Given the description of an element on the screen output the (x, y) to click on. 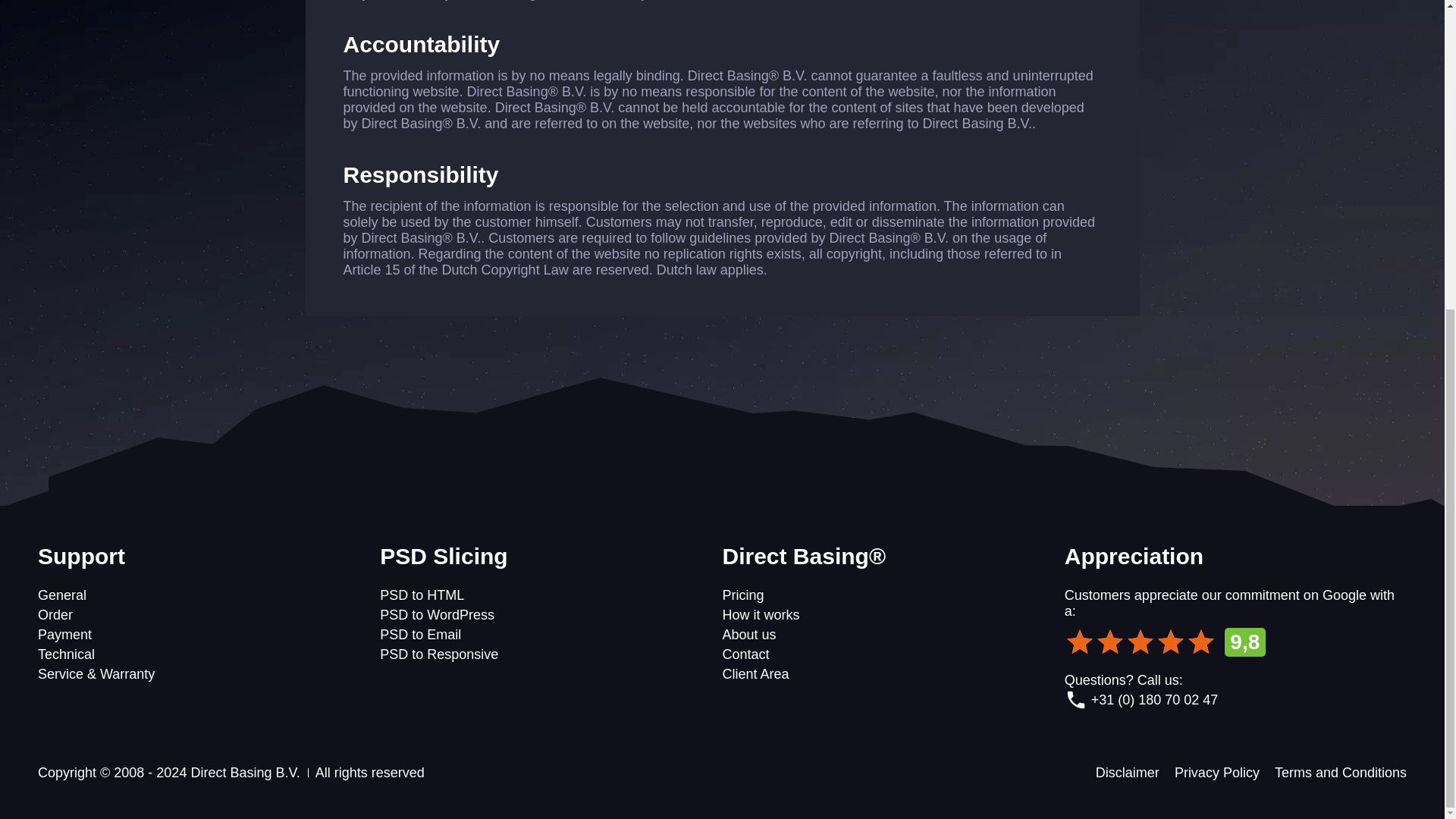
PSD to Email (420, 634)
PSD to WordPress (437, 614)
Technical (65, 654)
Support (208, 555)
About us (749, 634)
Privacy Policy (1216, 772)
General (61, 595)
Terms and Conditions (1340, 772)
PSD Slicing (551, 555)
Contact (745, 654)
PSD to Responsive (438, 654)
How it works (760, 614)
PSD to HTML (422, 595)
Disclaimer (1127, 772)
Order (54, 614)
